Given the description of an element on the screen output the (x, y) to click on. 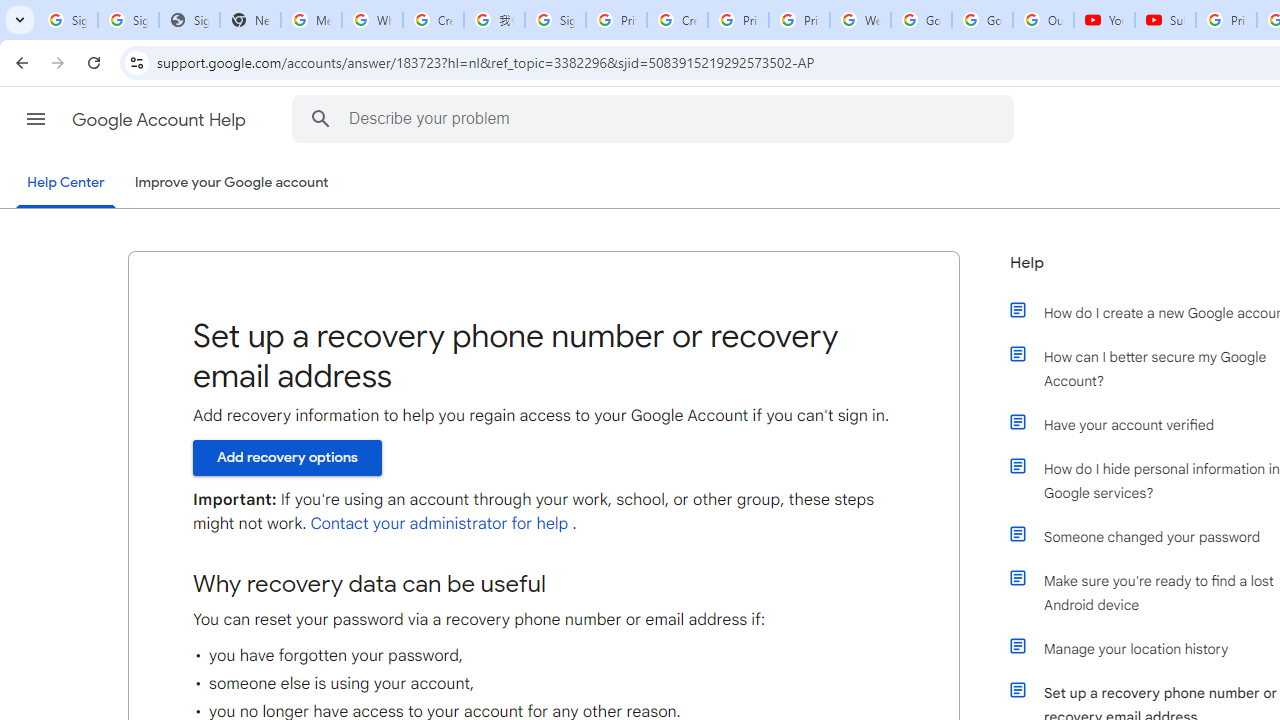
Create your Google Account (433, 20)
YouTube (1104, 20)
Sign in - Google Accounts (67, 20)
Google Account (982, 20)
Main menu (35, 119)
Describe your problem (655, 118)
Create your Google Account (676, 20)
